Given the description of an element on the screen output the (x, y) to click on. 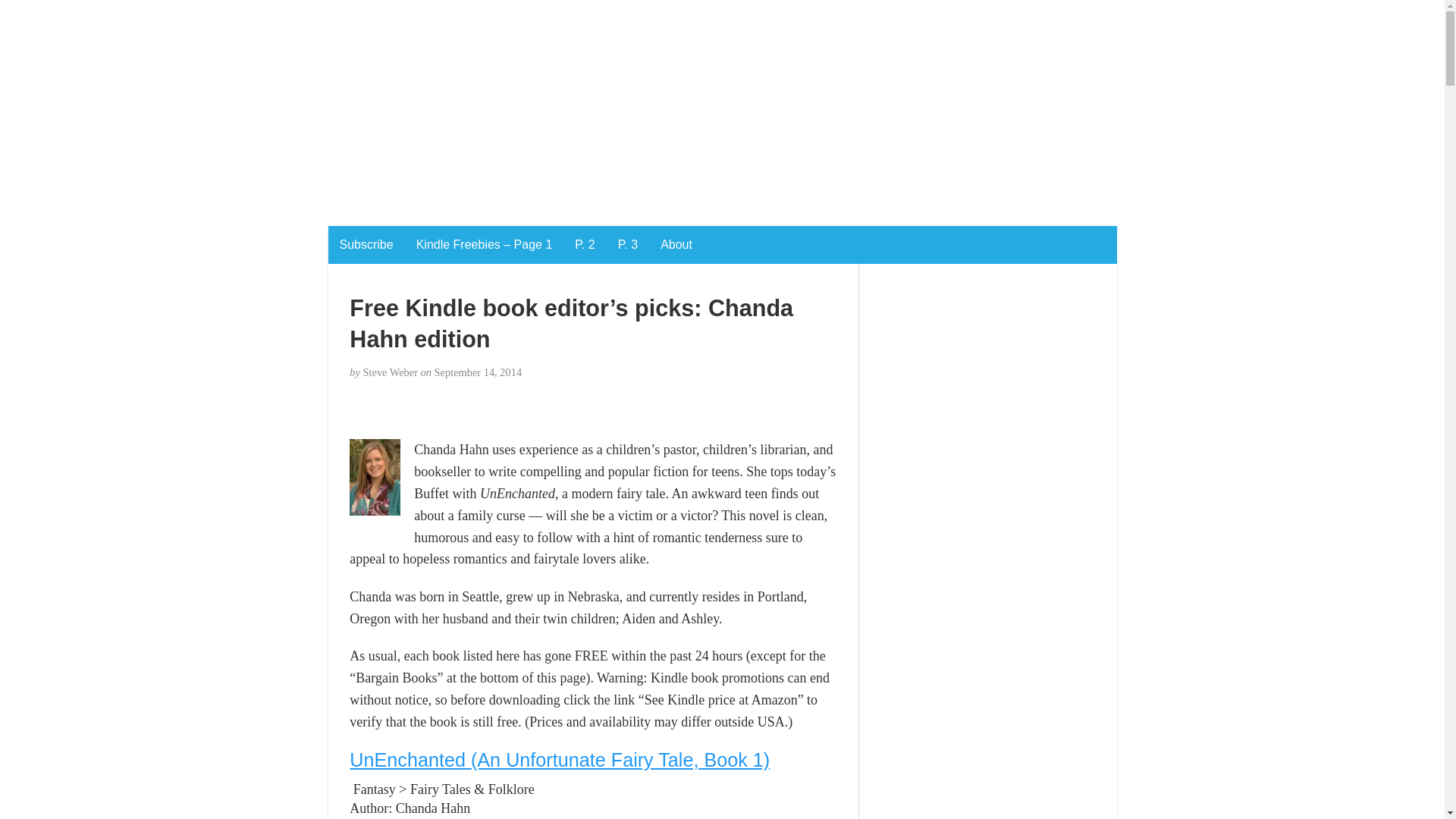
P. 2 (584, 244)
P. 3 (628, 244)
About (676, 244)
Subscribe (365, 244)
Kindle Freebies - Page 1 (484, 244)
P. 2 (584, 244)
Subscribe (365, 244)
About (676, 244)
P. 3 (628, 244)
